Given the description of an element on the screen output the (x, y) to click on. 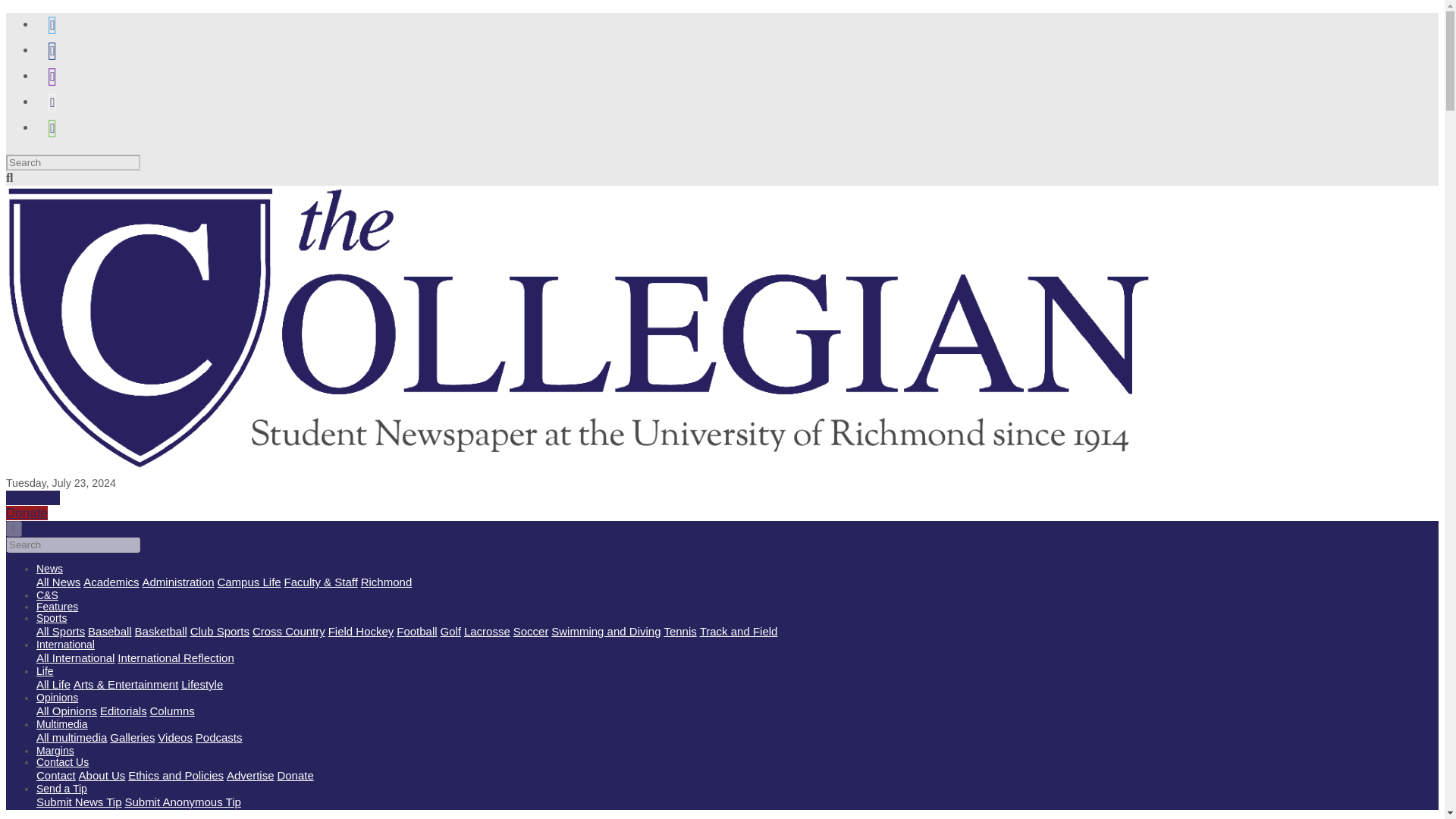
Tennis (679, 631)
Administration (178, 581)
Club Sports (219, 631)
All News (58, 581)
All International (75, 657)
Football (416, 631)
Academics (110, 581)
Lacrosse (487, 631)
Sports (51, 617)
Golf (451, 631)
Baseball (109, 631)
Donate (26, 513)
Lifestyle (201, 684)
Life (44, 671)
Opinions (57, 697)
